Given the description of an element on the screen output the (x, y) to click on. 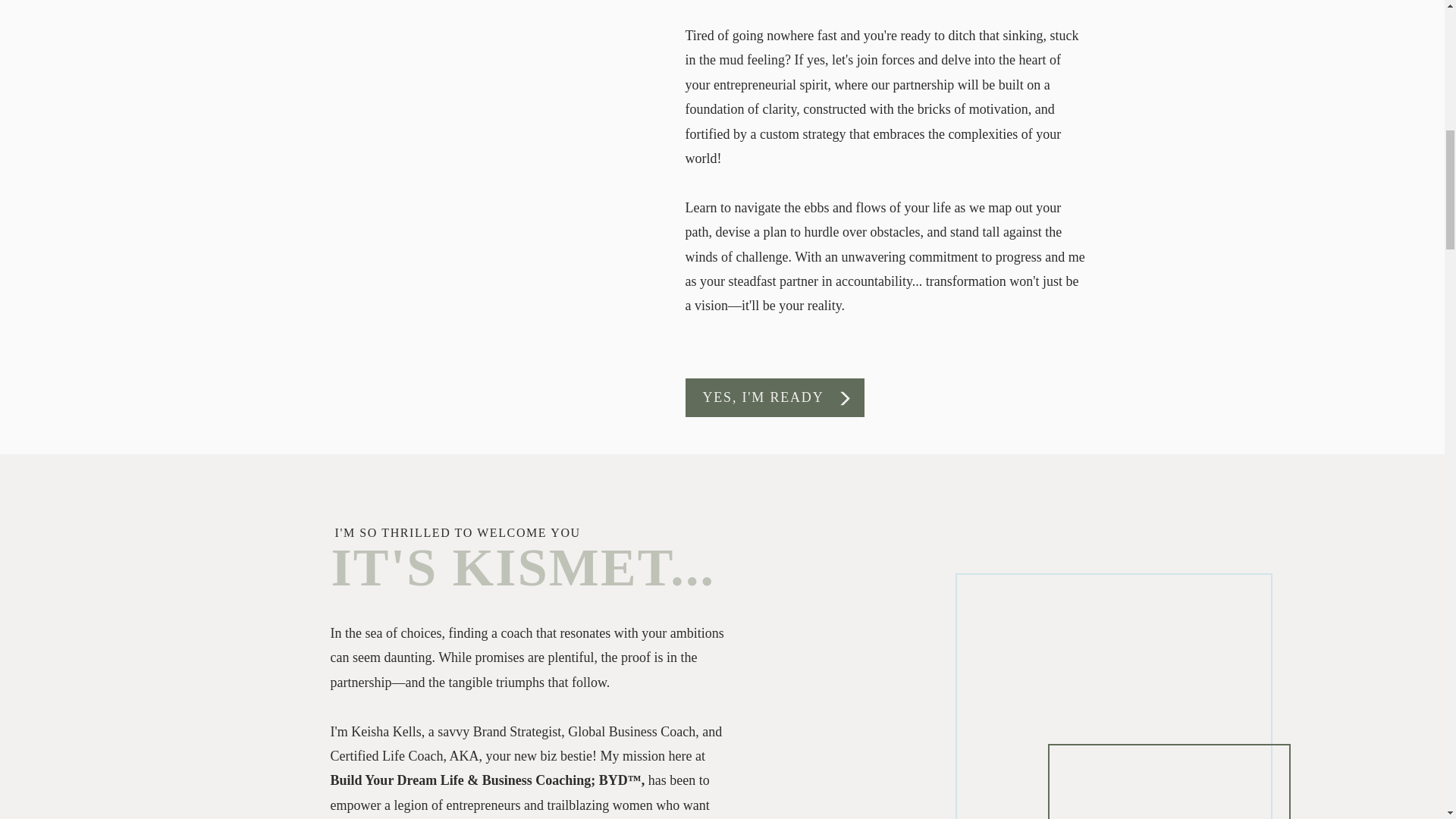
YES, I'M READY (764, 397)
